Given the description of an element on the screen output the (x, y) to click on. 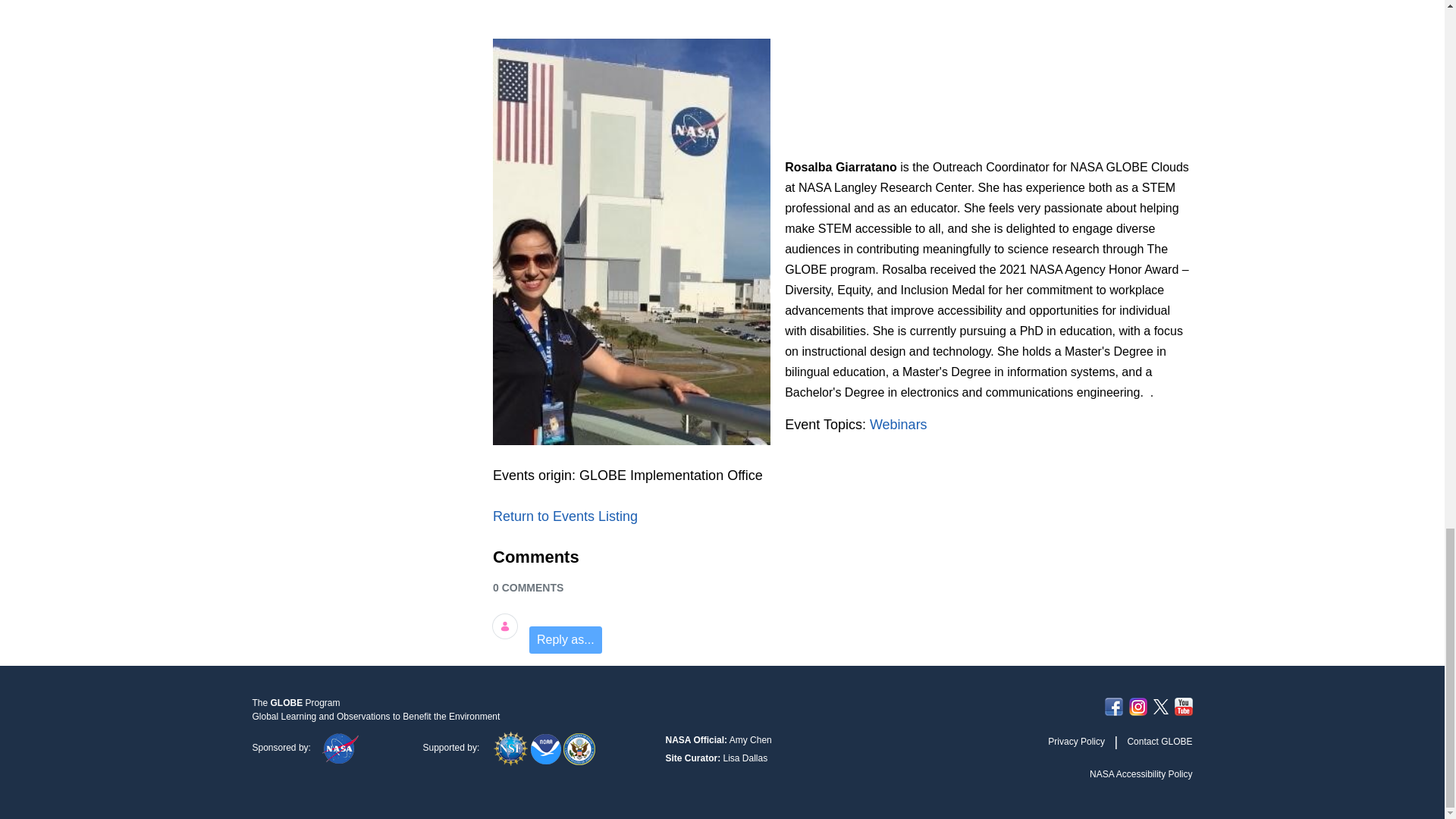
National Science Foundation (512, 747)
National Aeronautics and Space Administration (339, 747)
U.S. Department of State (579, 747)
National Oceanic and Atmospheric Administration (547, 747)
